Given the description of an element on the screen output the (x, y) to click on. 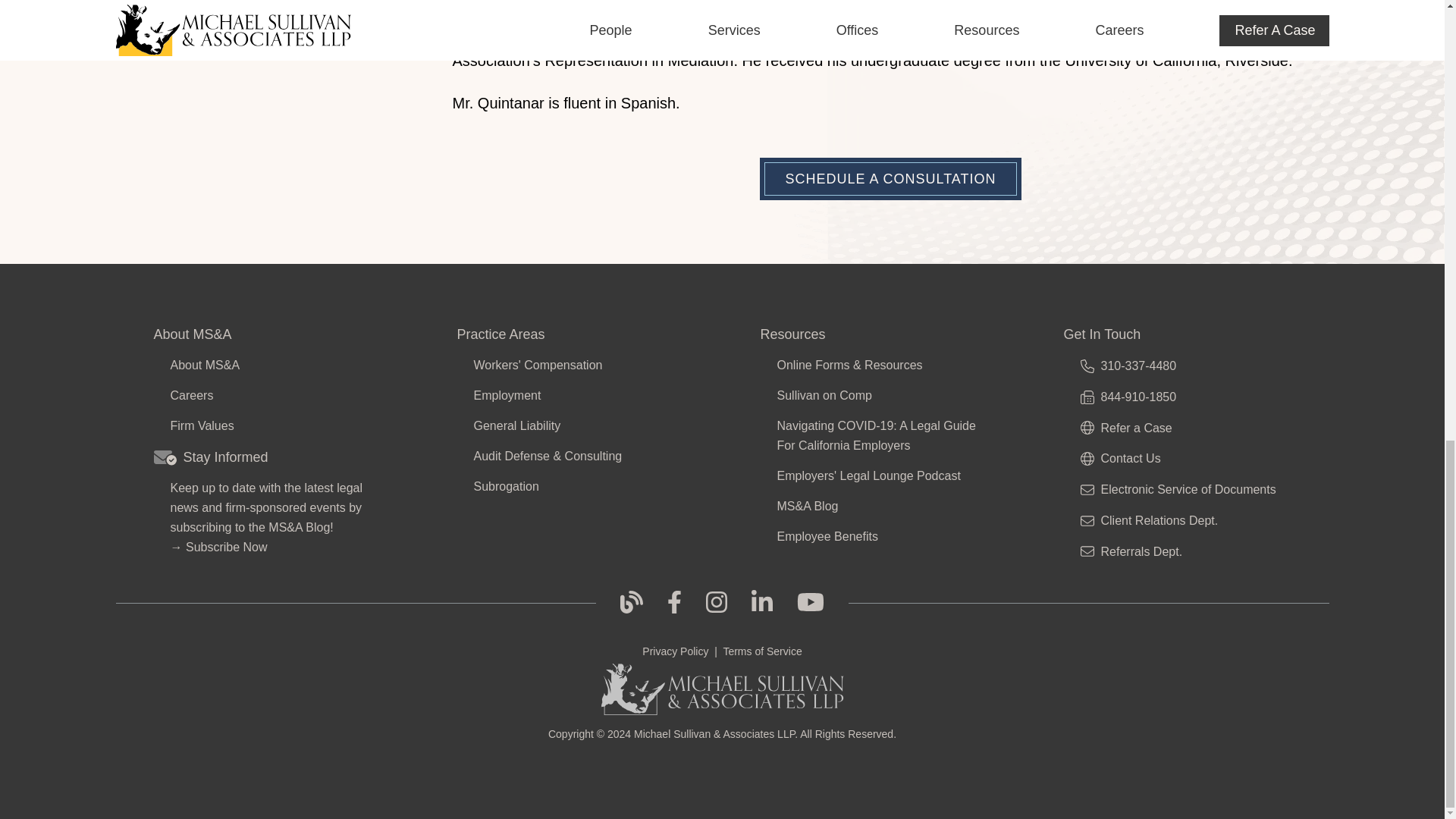
Employment (575, 395)
Employers' Legal Lounge Podcast (877, 476)
Firm Values (271, 425)
Practice Areas (570, 333)
Resources (873, 333)
Subrogation (575, 486)
Sullivan on Comp (877, 395)
General Liability (575, 425)
Careers (271, 395)
Employee Benefits (877, 537)
Workers' Compensation (575, 365)
Navigating COVID-19: A Legal Guide For California Employers (877, 435)
SCHEDULE A CONSULTATION (890, 178)
Stay Informed (266, 456)
Subscribe Now (226, 546)
